Given the description of an element on the screen output the (x, y) to click on. 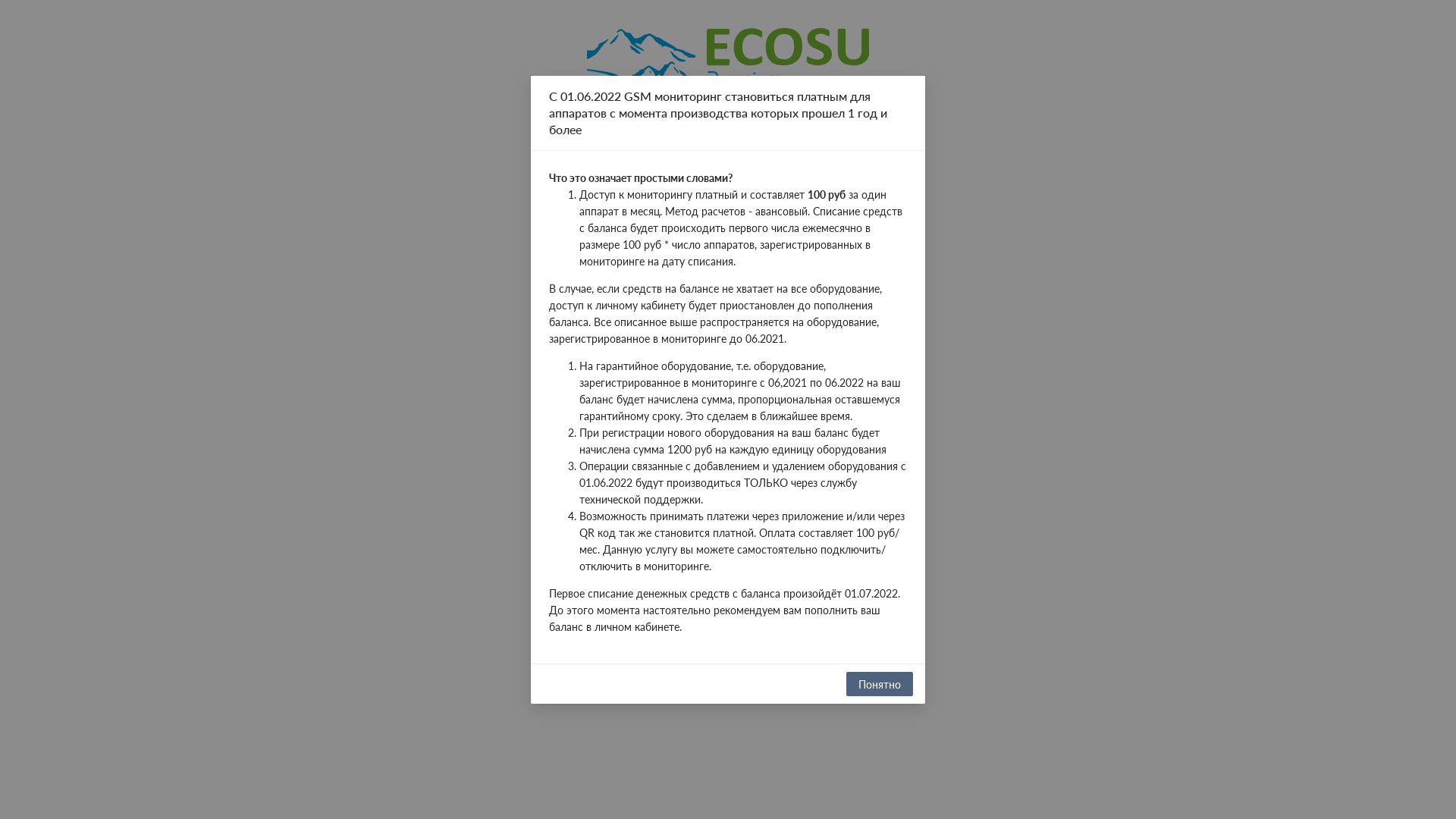
Viber Element type: text (598, 424)
https://t.me/alivewaternewbot Element type: text (657, 394)
+7 342 225 05 67 Element type: text (628, 453)
